Given the description of an element on the screen output the (x, y) to click on. 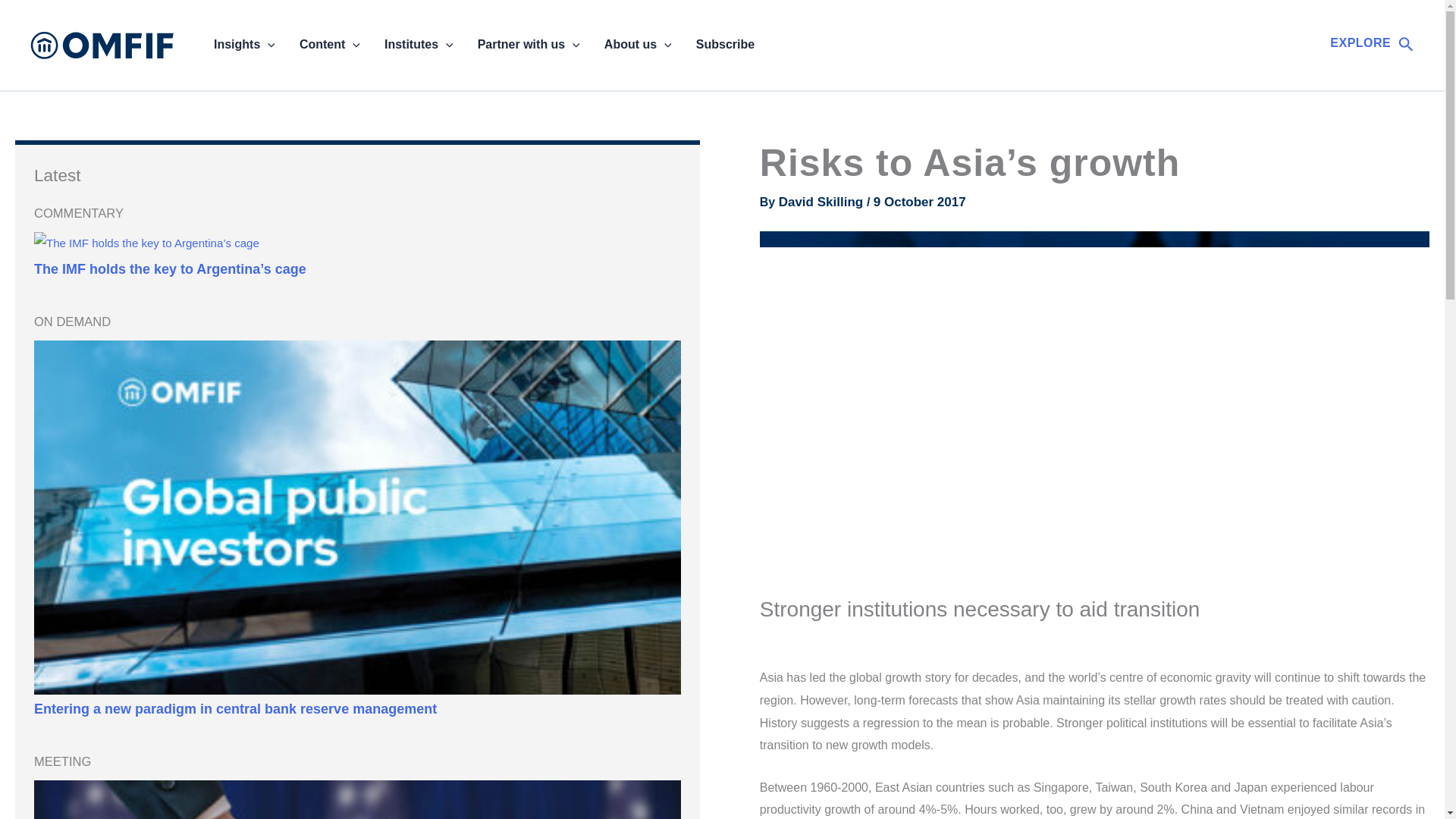
Content (329, 44)
Insights (244, 44)
View all posts by David Skilling (822, 201)
Partner with us (528, 44)
About us (638, 44)
Institutes (418, 44)
